Given the description of an element on the screen output the (x, y) to click on. 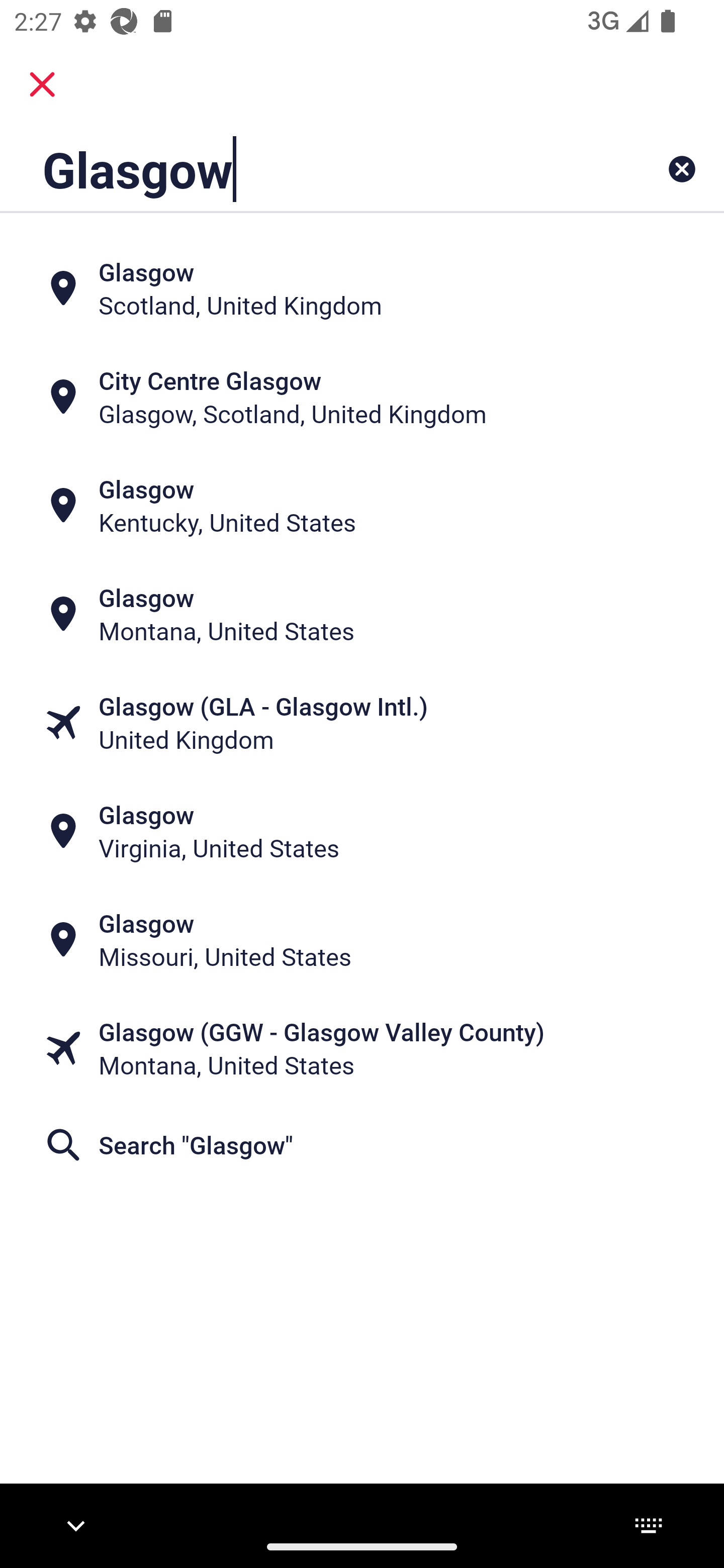
close. (42, 84)
Clear (681, 169)
Glasgow (298, 169)
Glasgow Scotland, United Kingdom (362, 288)
Glasgow Kentucky, United States (362, 505)
Glasgow Montana, United States (362, 613)
Glasgow (GLA - Glasgow Intl.) United Kingdom (362, 722)
Glasgow Virginia, United States (362, 831)
Glasgow Missouri, United States (362, 939)
Search "Glasgow" (362, 1144)
